Given the description of an element on the screen output the (x, y) to click on. 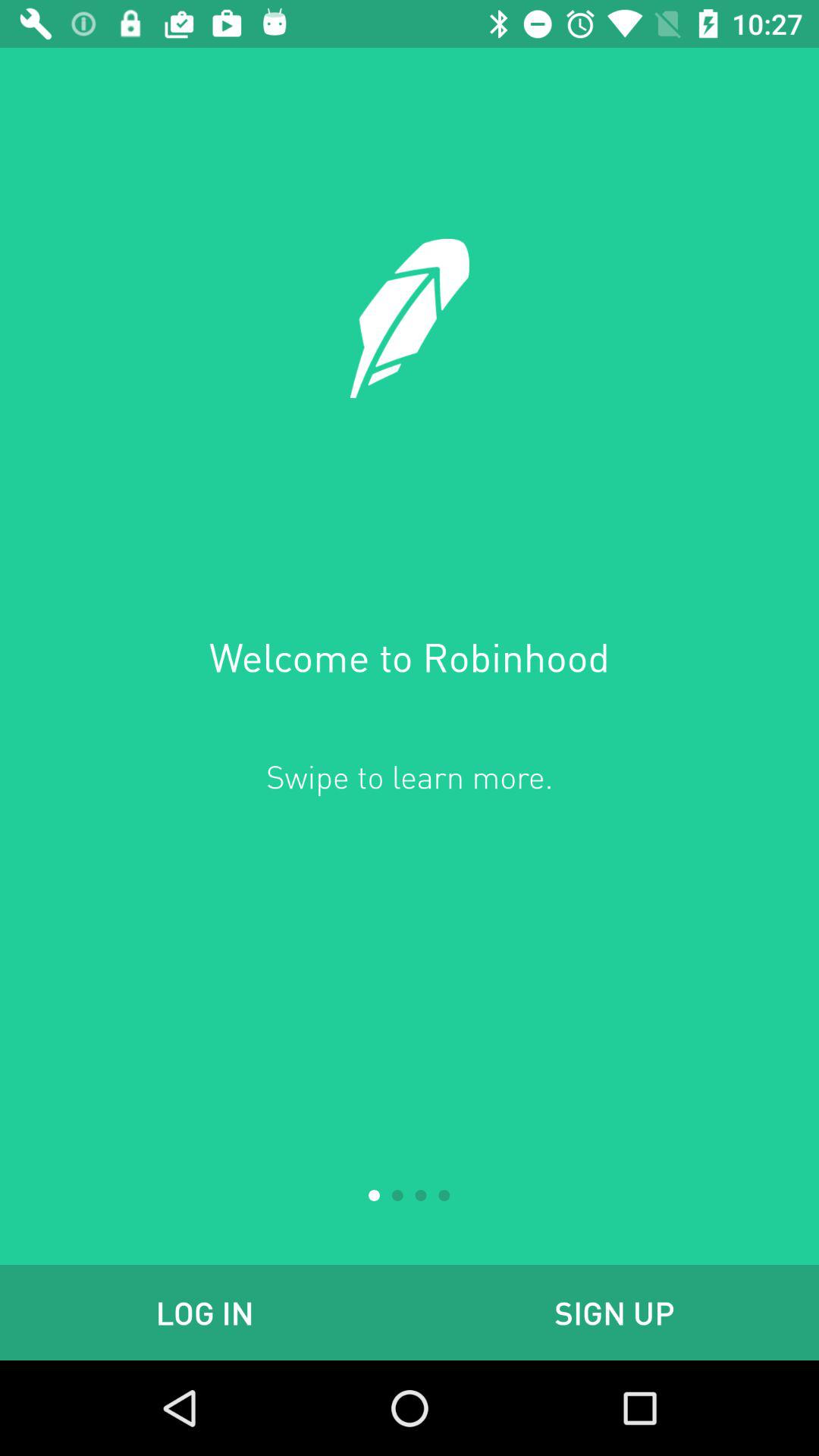
flip until the sign up icon (614, 1312)
